Given the description of an element on the screen output the (x, y) to click on. 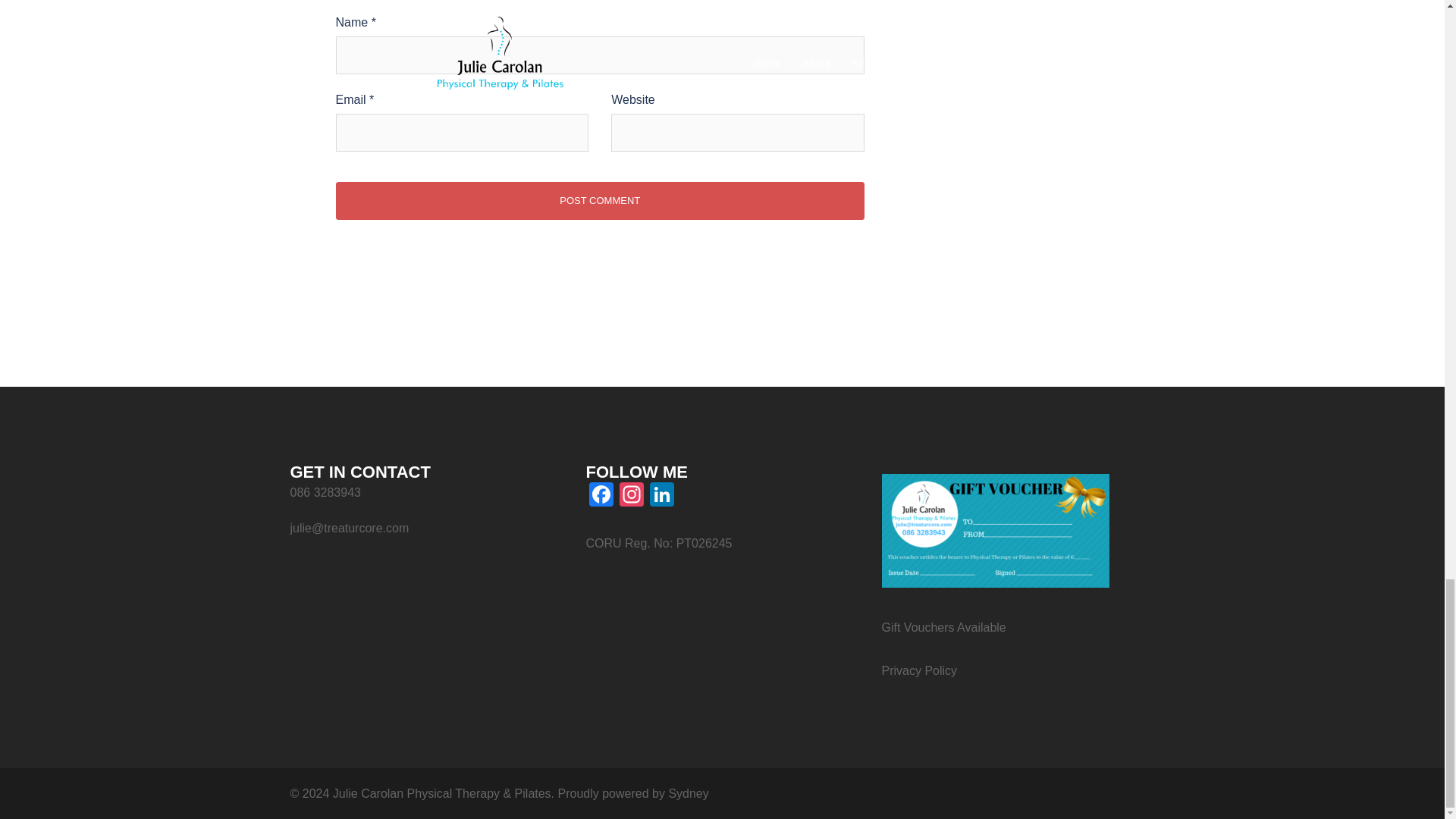
Instagram (630, 496)
Post Comment (599, 200)
086 3283943 (324, 492)
LinkedIn Company (661, 496)
Facebook (600, 496)
Post Comment (599, 200)
